Given the description of an element on the screen output the (x, y) to click on. 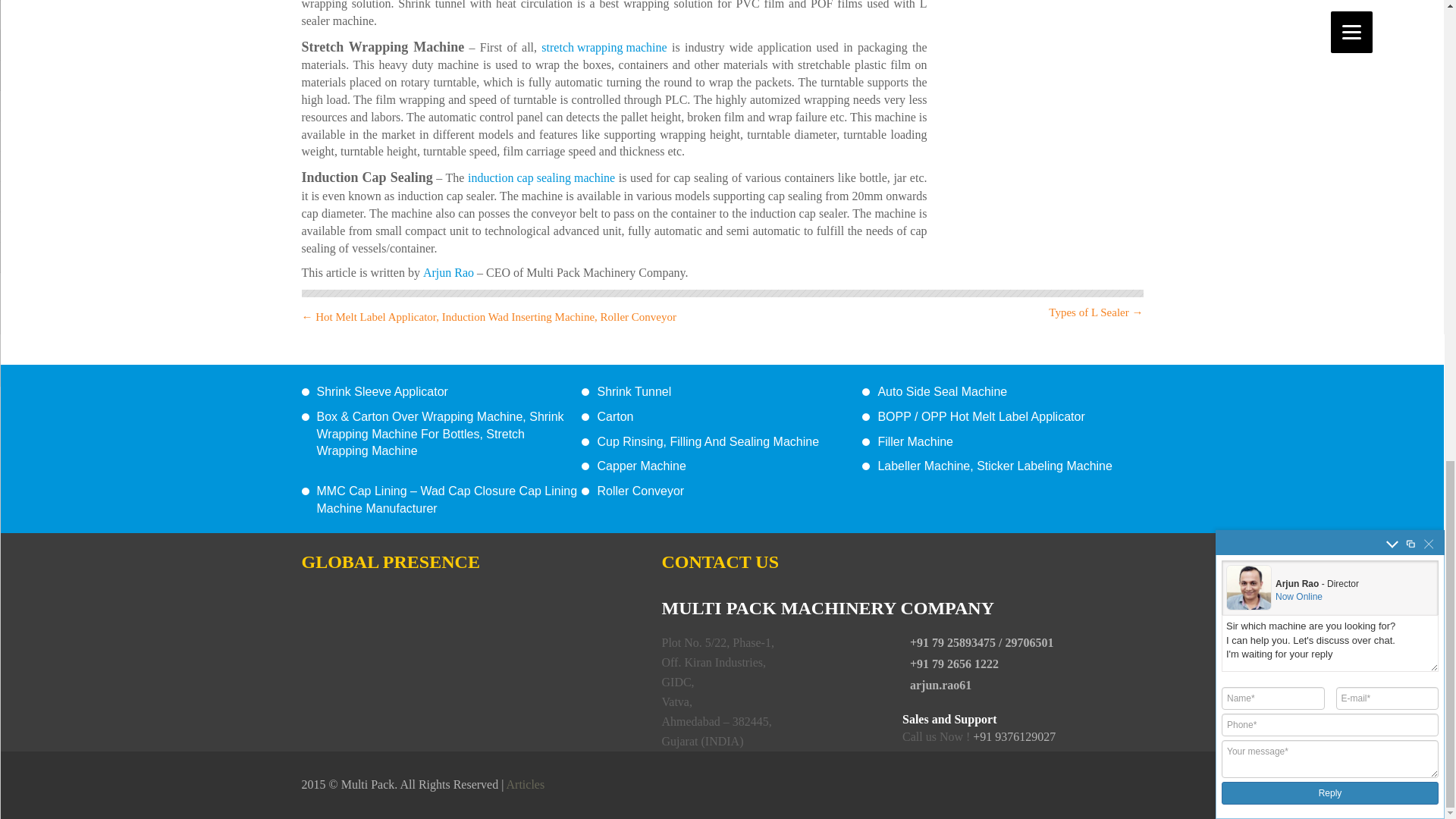
induction cap sealing machine (540, 178)
Arjun Rao (448, 272)
stretch wrapping machine (603, 47)
